Given the description of an element on the screen output the (x, y) to click on. 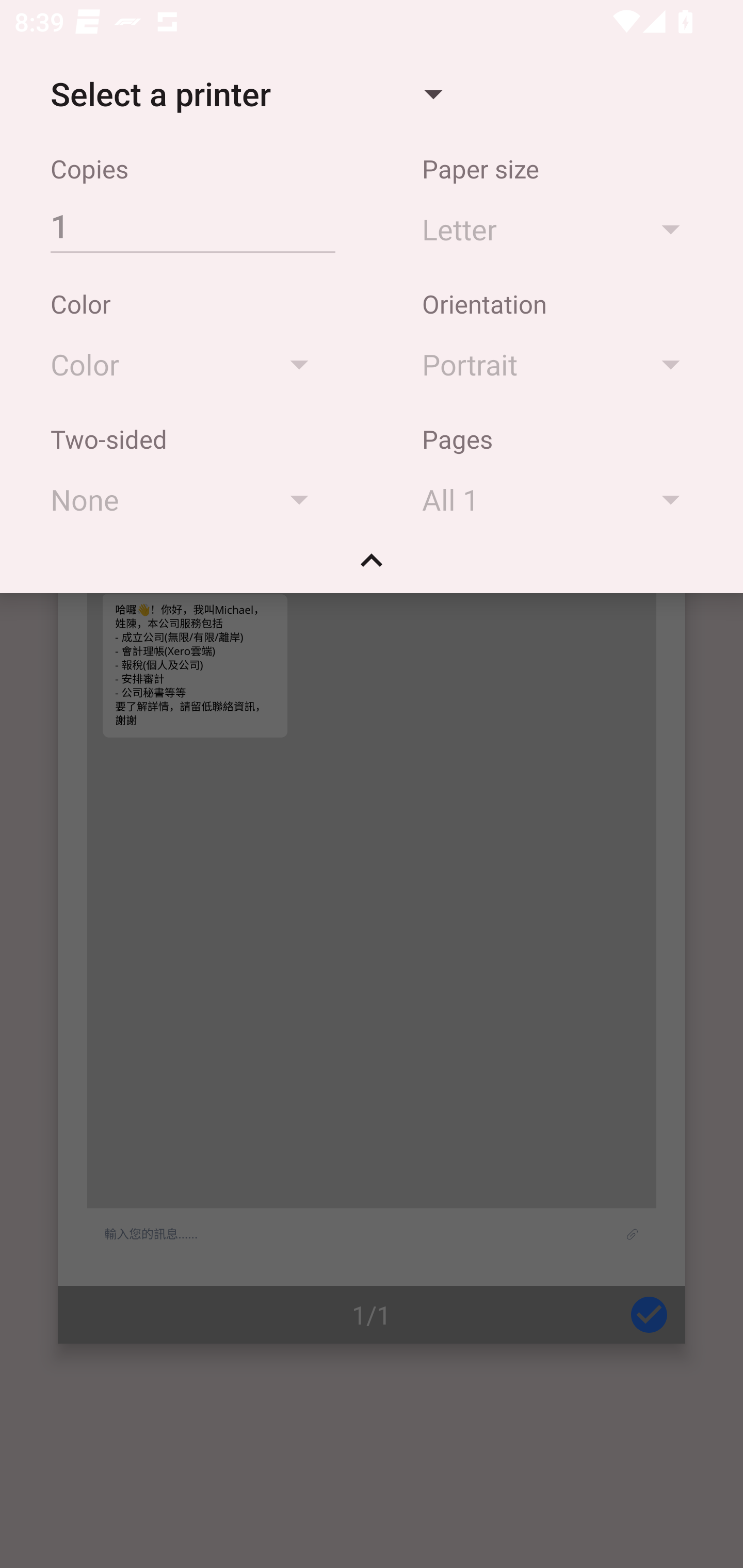
Select a printer (245, 93)
1 (192, 225)
Letter (560, 228)
Color (189, 364)
Portrait (560, 364)
None (189, 499)
All 1 (560, 499)
Collapse handle (371, 567)
